Given the description of an element on the screen output the (x, y) to click on. 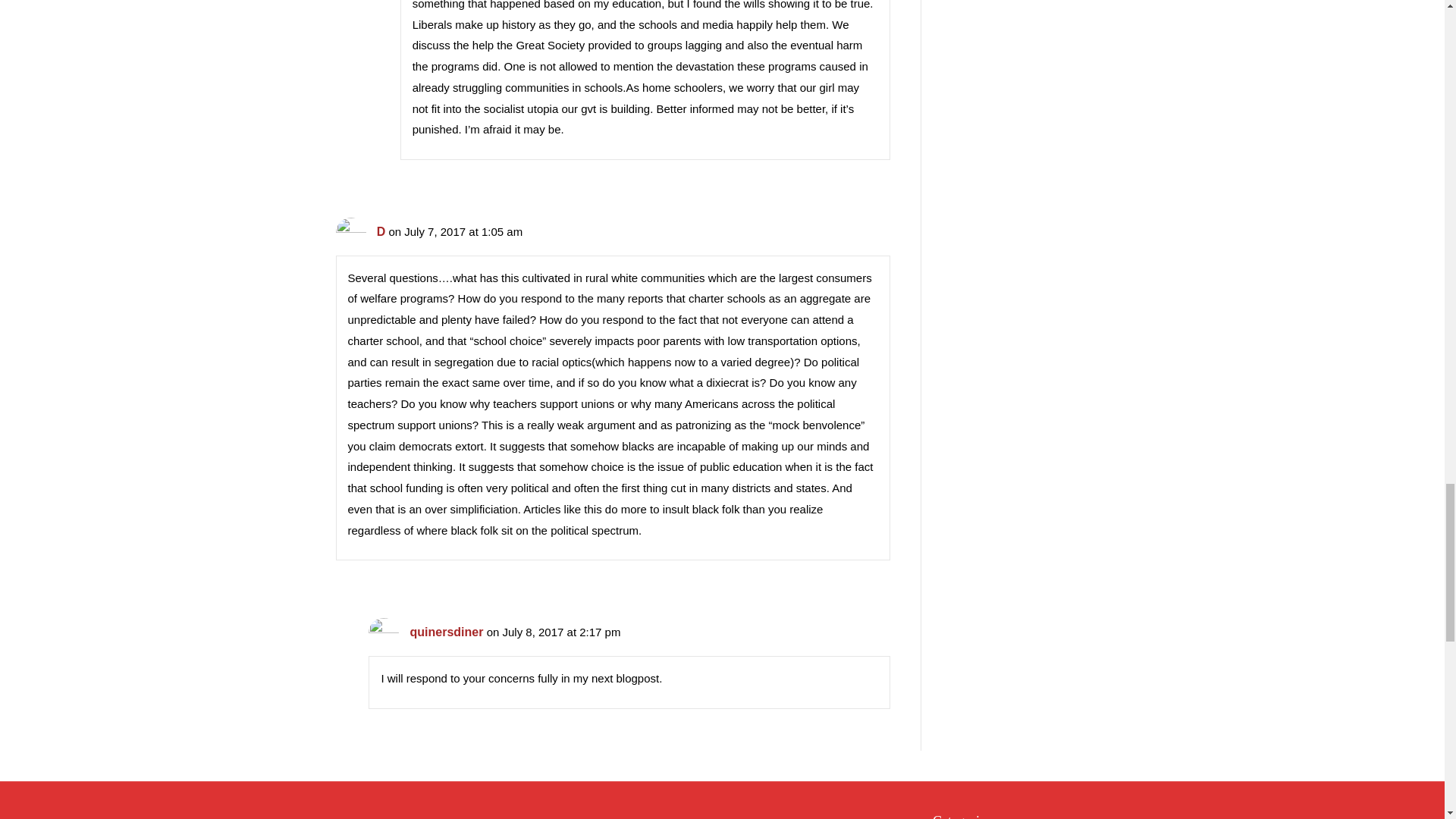
quinersdiner (446, 631)
